Given the description of an element on the screen output the (x, y) to click on. 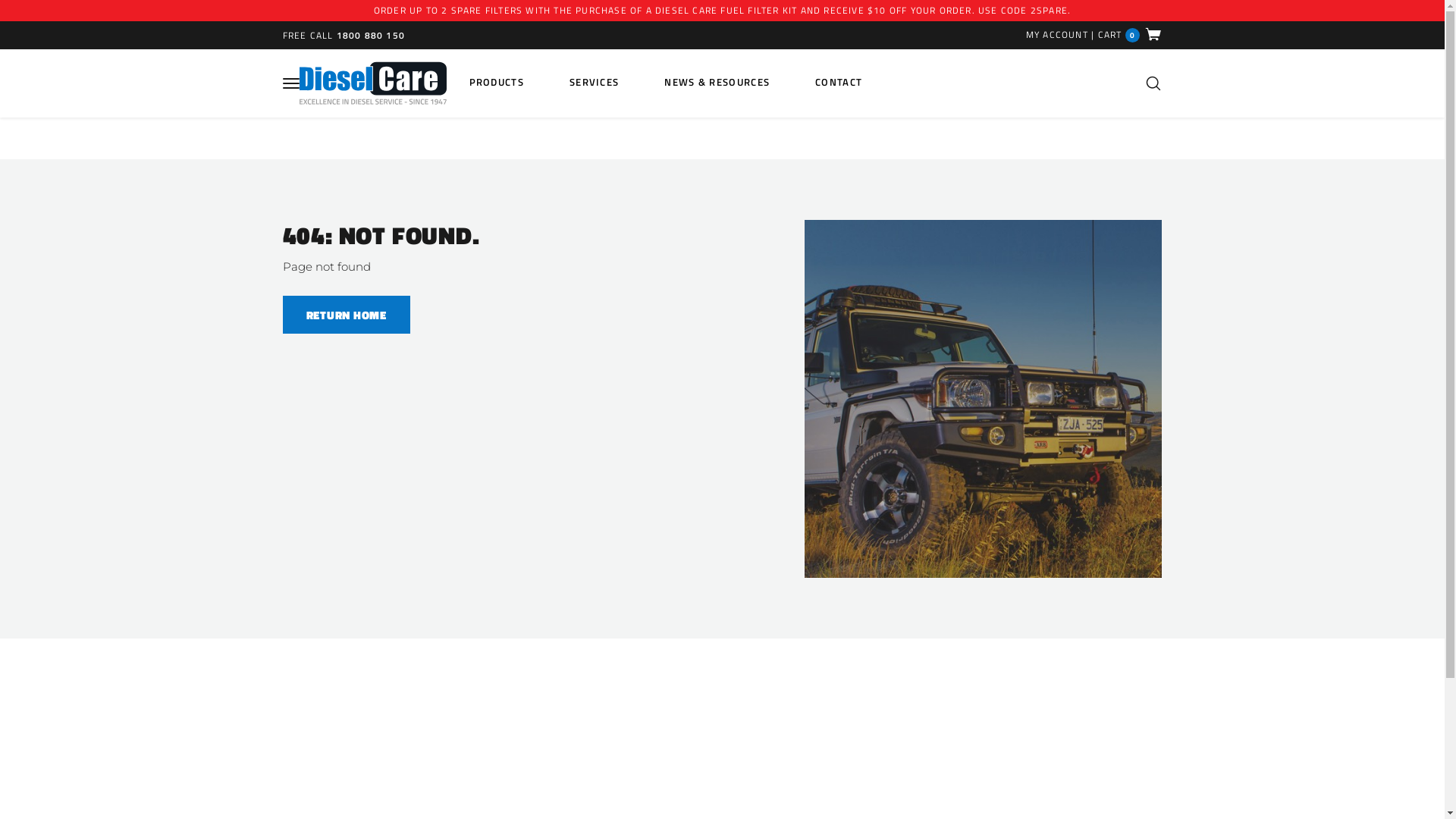
Diesel Care - Excellence in Diesel Service - Since 1947 Element type: hover (371, 83)
PRODUCTS Element type: text (495, 81)
1800 880 150 Element type: text (370, 34)
MY ACCOUNT Element type: text (1057, 33)
SERVICES Element type: text (593, 81)
Search Element type: text (1152, 83)
NEWS & RESOURCES Element type: text (716, 81)
RETURN HOME Element type: text (345, 314)
CONTACT Element type: text (838, 81)
CART 0 Element type: text (1130, 35)
